Given the description of an element on the screen output the (x, y) to click on. 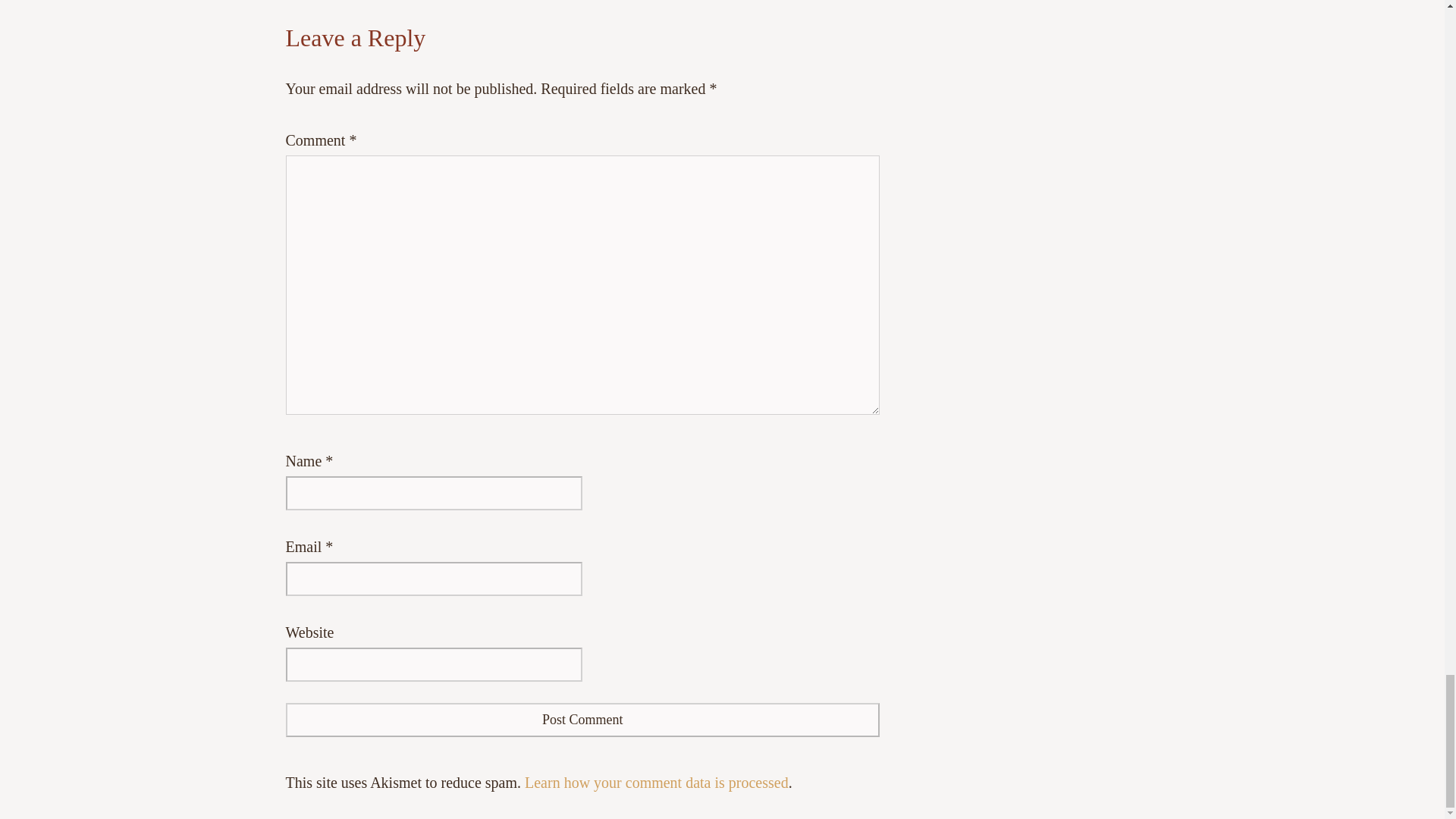
Post Comment (582, 719)
Learn how your comment data is processed (656, 782)
Post Comment (582, 719)
